Given the description of an element on the screen output the (x, y) to click on. 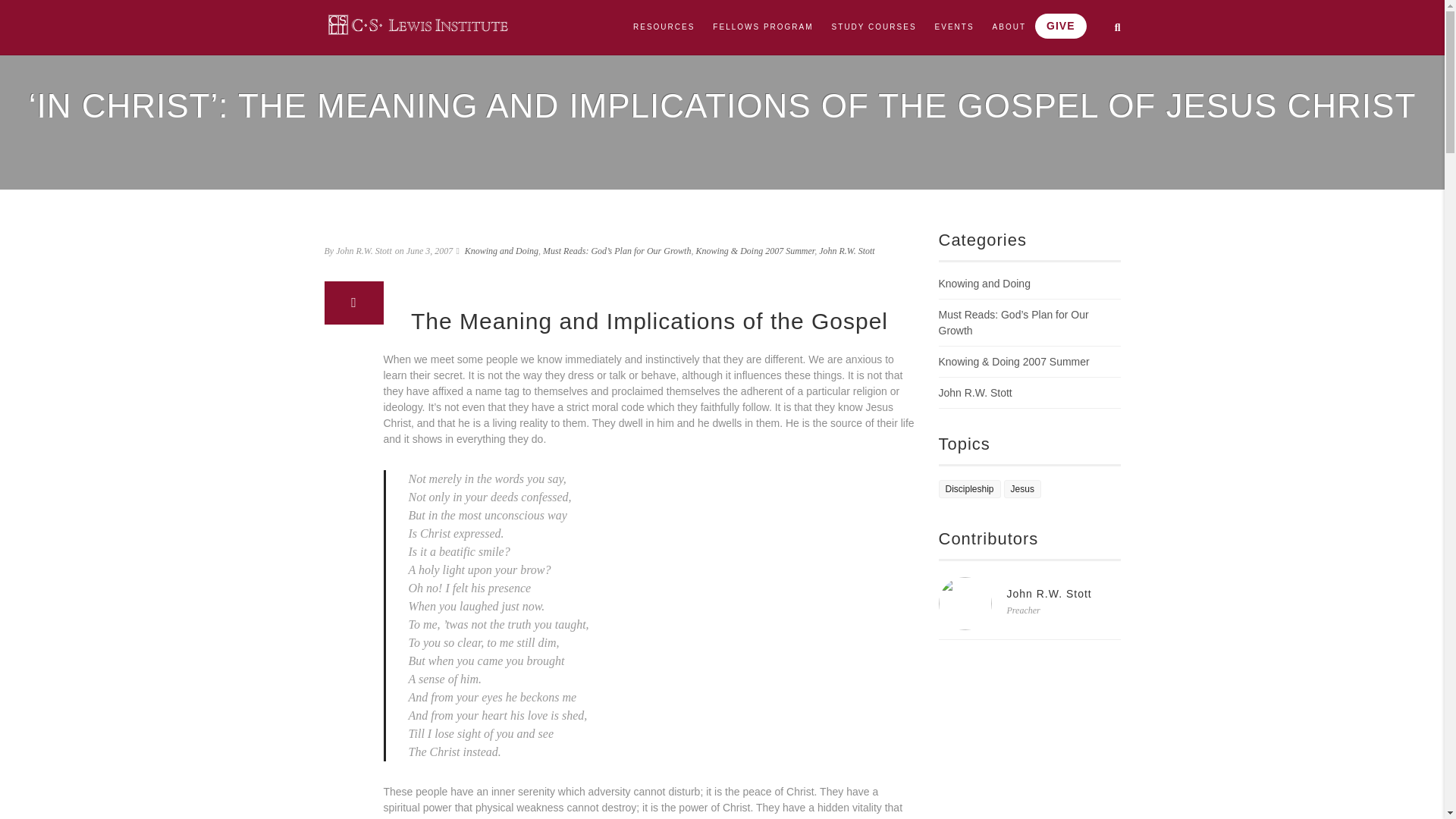
FELLOWS PROGRAM (762, 27)
Logo (418, 23)
STUDY COURSES (874, 27)
RESOURCES (663, 27)
